Given the description of an element on the screen output the (x, y) to click on. 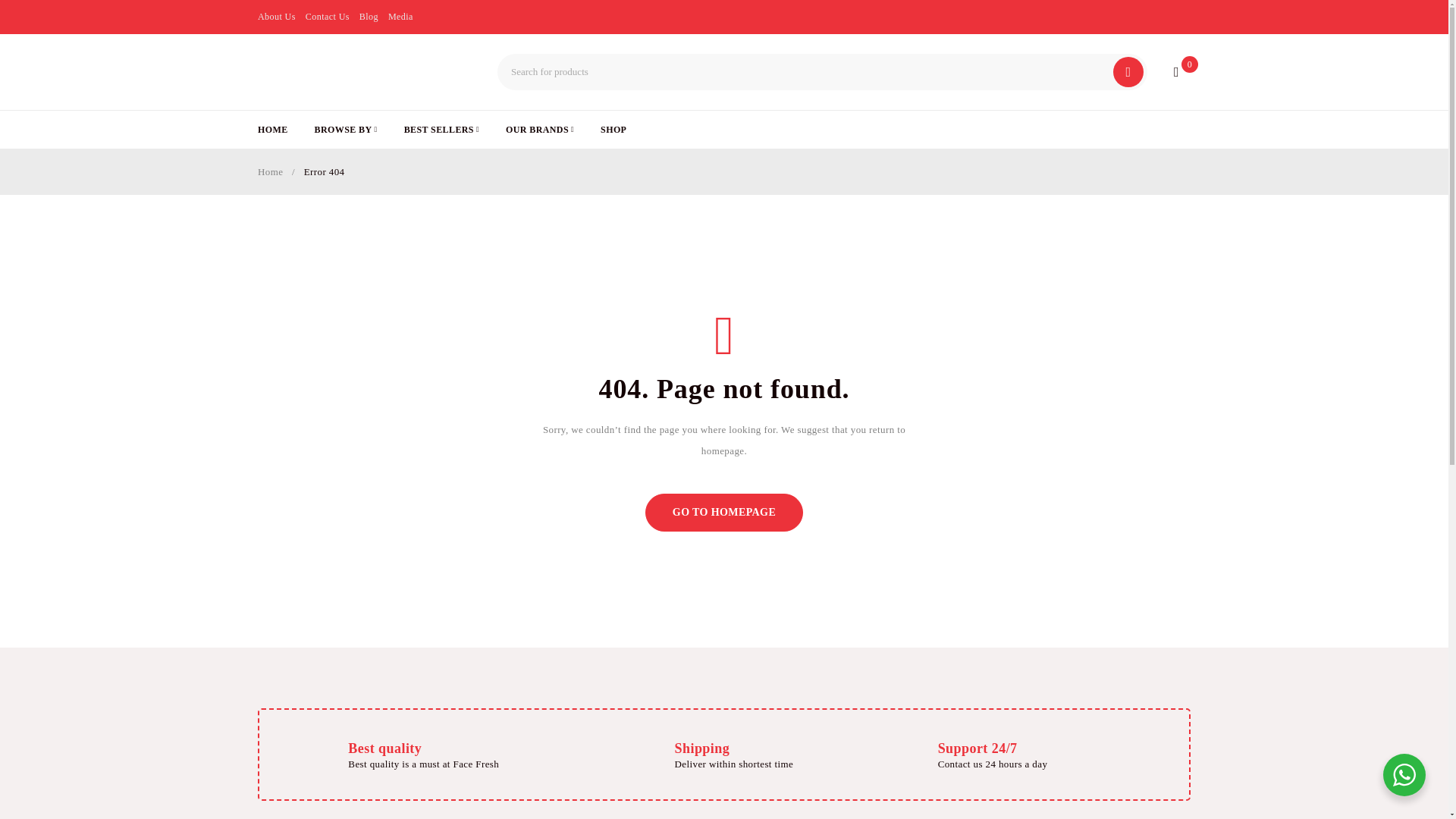
About Us (276, 16)
Search (1127, 71)
BEST SELLERS (441, 129)
BROWSE BY (345, 129)
Search (1127, 71)
Blog (368, 16)
Search (1127, 71)
Media (400, 16)
Contact Us (327, 16)
HOME (272, 129)
